Given the description of an element on the screen output the (x, y) to click on. 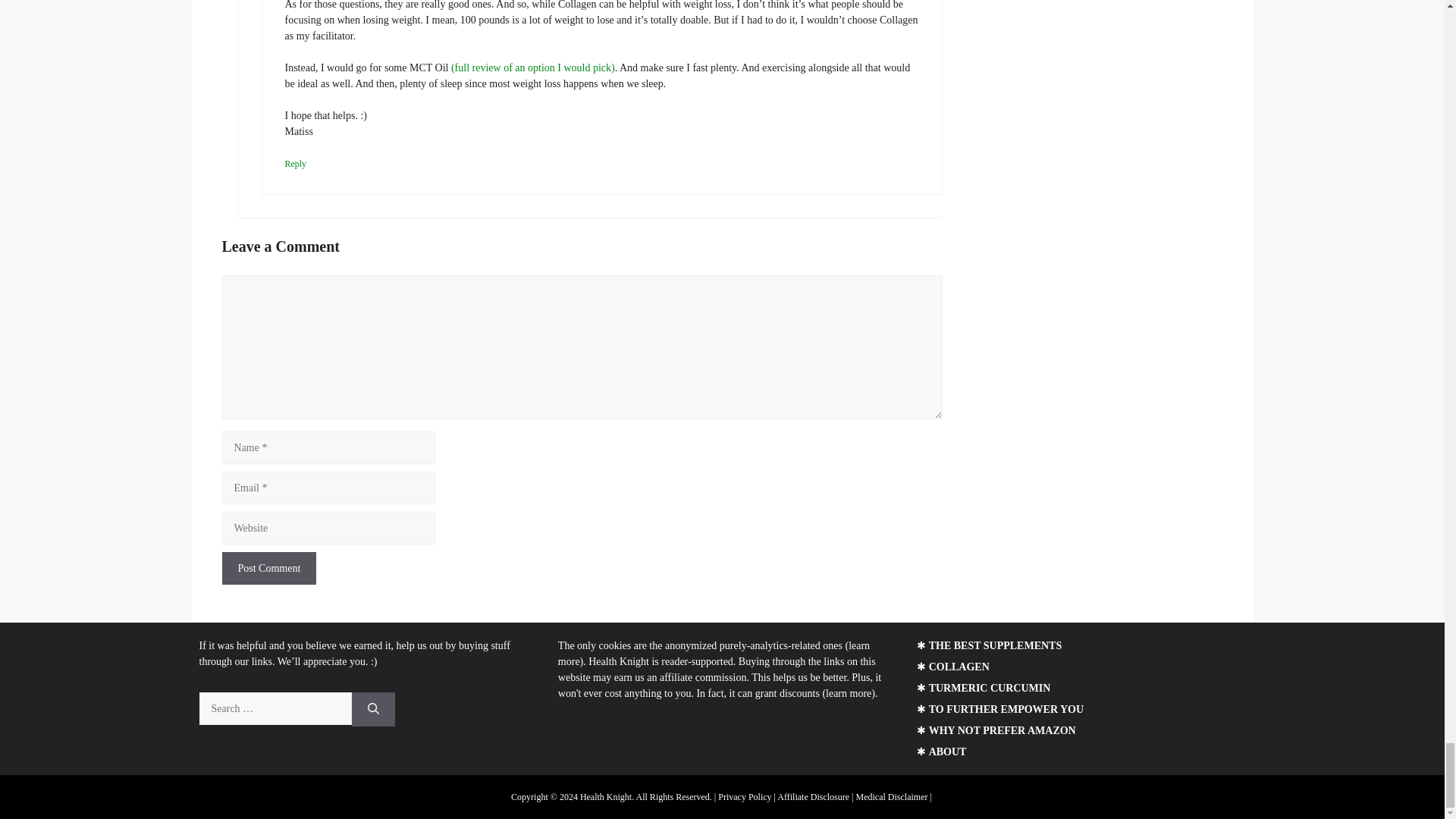
Post Comment (268, 568)
Search for: (274, 708)
